Given the description of an element on the screen output the (x, y) to click on. 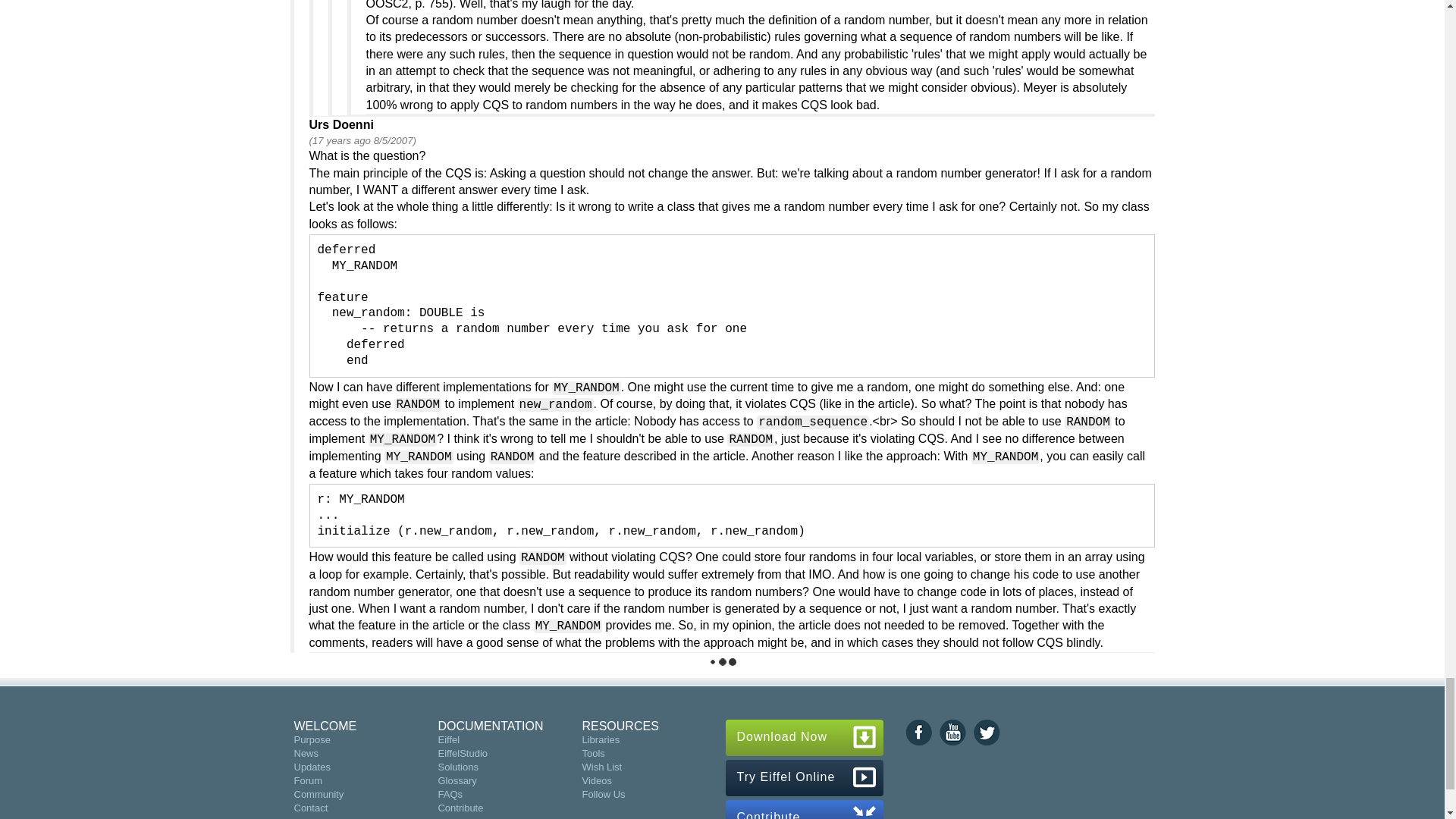
Eiffel (449, 739)
Libraries (600, 739)
EiffelStudio (462, 753)
Tools (592, 753)
Sign In (309, 817)
RESOURCES (619, 726)
Updates (312, 766)
Solutions (457, 766)
Forum (308, 780)
Contribute (460, 807)
News (306, 753)
WELCOME (325, 726)
Contact (311, 807)
FAQs (450, 794)
